Given the description of an element on the screen output the (x, y) to click on. 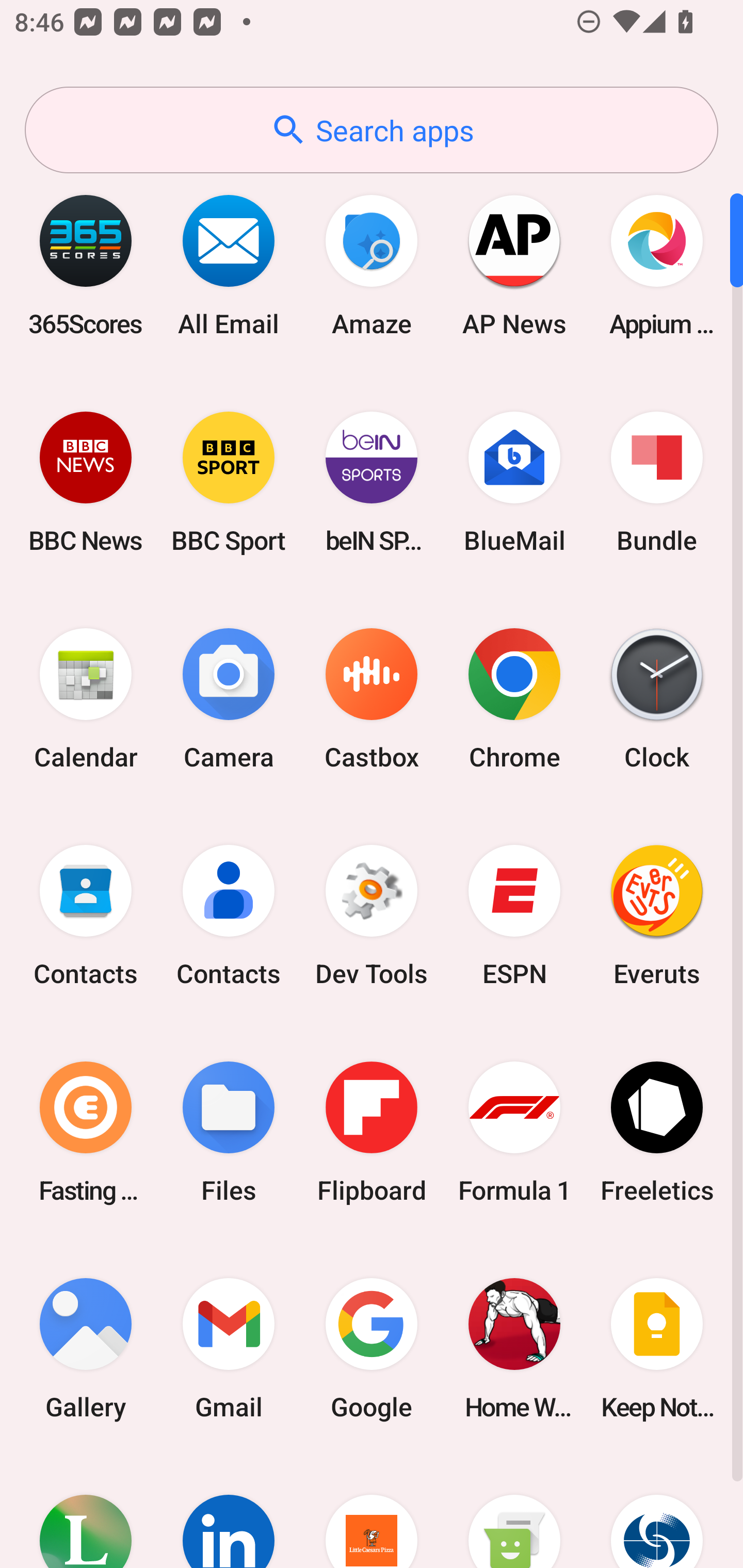
  Search apps (371, 130)
365Scores (85, 264)
All Email (228, 264)
Amaze (371, 264)
AP News (514, 264)
Appium Settings (656, 264)
BBC News (85, 482)
BBC Sport (228, 482)
beIN SPORTS (371, 482)
BlueMail (514, 482)
Bundle (656, 482)
Calendar (85, 699)
Camera (228, 699)
Castbox (371, 699)
Chrome (514, 699)
Clock (656, 699)
Contacts (85, 915)
Contacts (228, 915)
Dev Tools (371, 915)
ESPN (514, 915)
Everuts (656, 915)
Fasting Coach (85, 1131)
Files (228, 1131)
Flipboard (371, 1131)
Formula 1 (514, 1131)
Freeletics (656, 1131)
Gallery (85, 1348)
Gmail (228, 1348)
Google (371, 1348)
Home Workout (514, 1348)
Keep Notes (656, 1348)
